Given the description of an element on the screen output the (x, y) to click on. 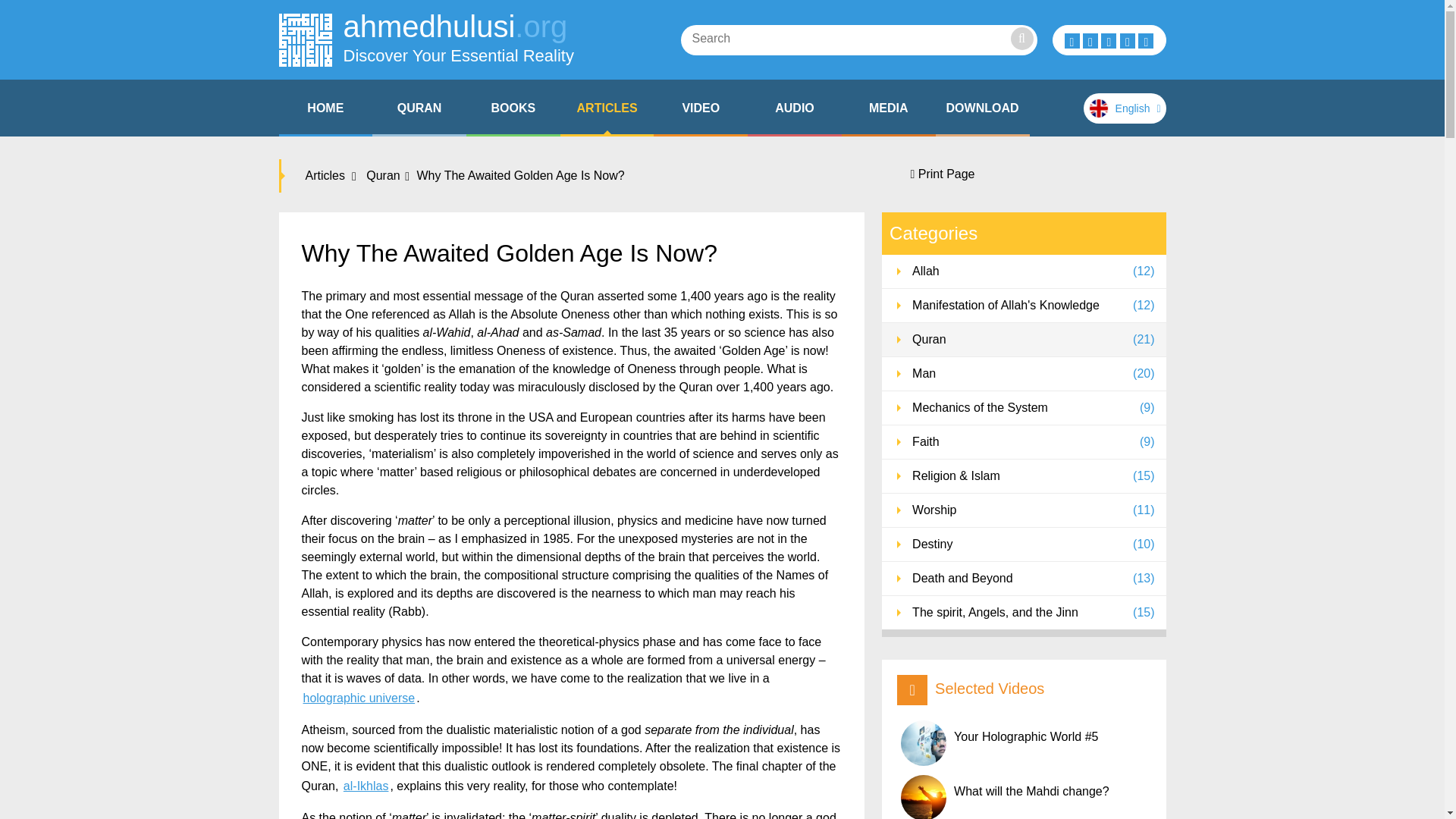
What will the Mahdi change? (1025, 796)
ARTICLES (606, 107)
Download (982, 107)
Audio (794, 107)
Media (888, 107)
Video (700, 107)
Articles (329, 175)
Articles (606, 107)
Quran (418, 107)
AUDIO (794, 107)
